Given the description of an element on the screen output the (x, y) to click on. 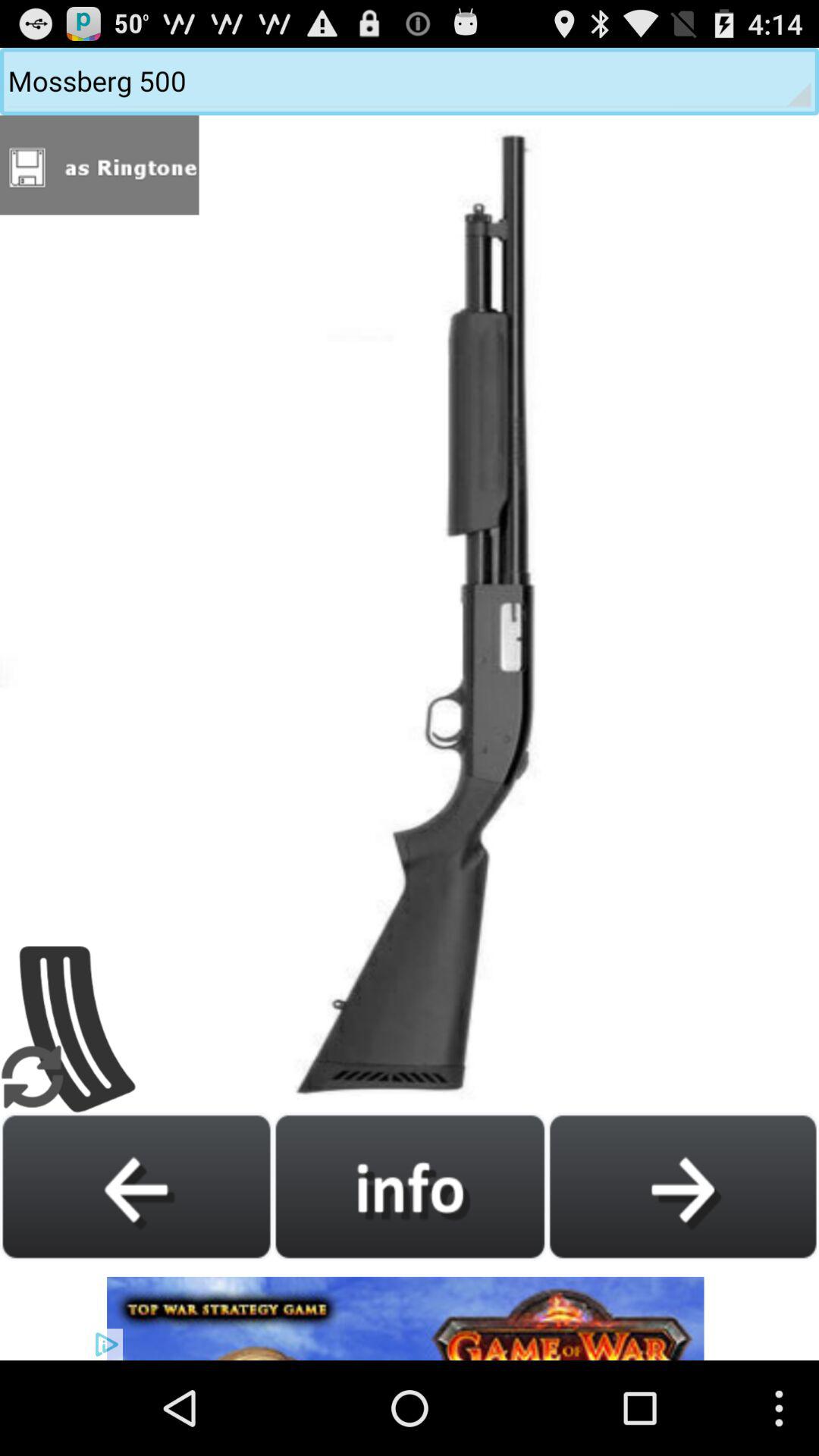
go back 5 seconds (136, 1186)
